Given the description of an element on the screen output the (x, y) to click on. 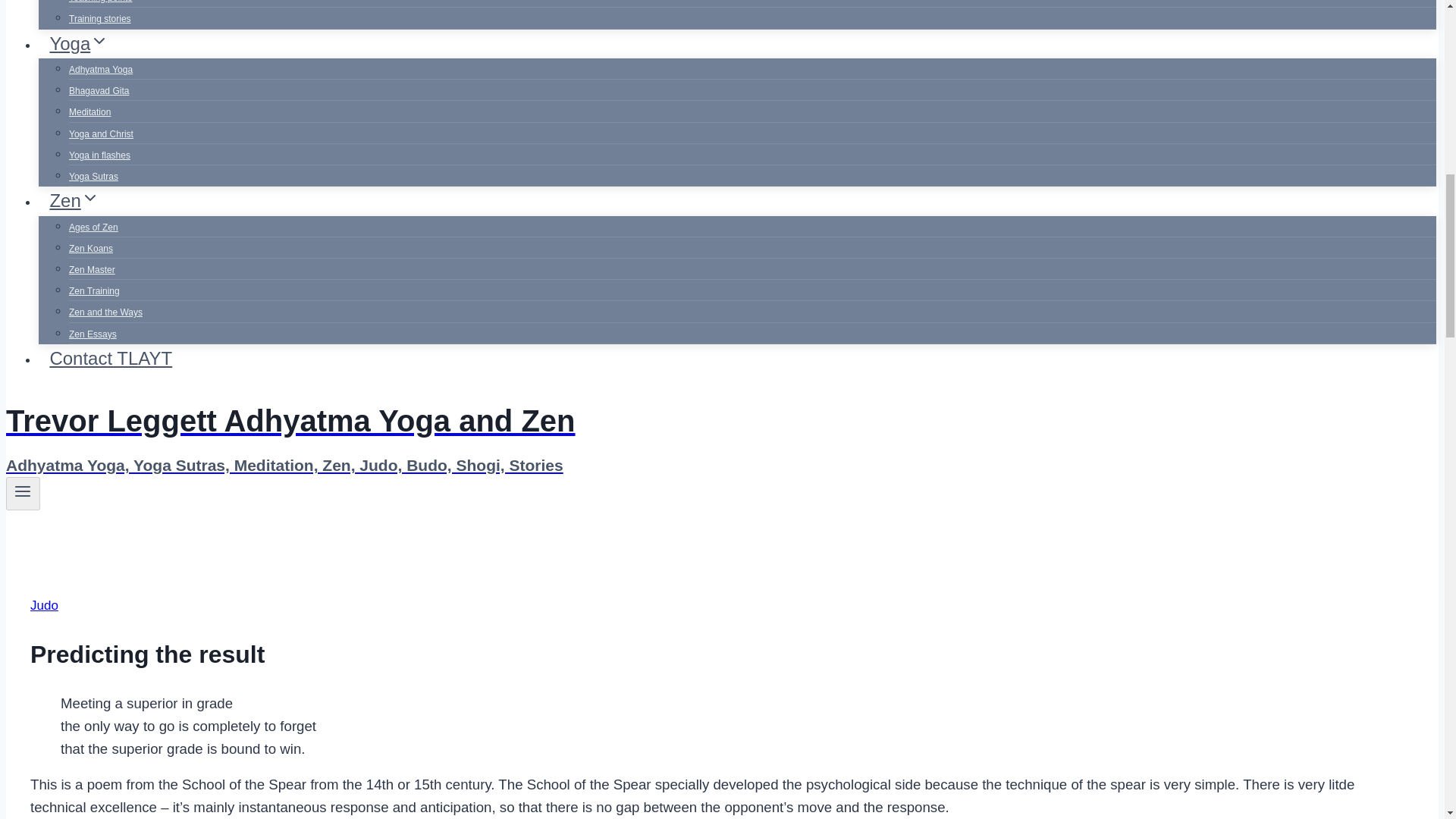
Yoga and Christ (100, 133)
Zen Master (91, 269)
Expand (90, 198)
Bhagavad Gita (98, 90)
Expand (98, 40)
Zen Training (93, 290)
Toggle Menu (22, 491)
Yoga Sutras (92, 176)
YogaExpand (79, 43)
Ages of Zen (92, 226)
Yoga in flashes (99, 154)
Adhyatma Yoga (100, 69)
Meditation (89, 111)
Zen Koans (90, 248)
ZenExpand (74, 200)
